Given the description of an element on the screen output the (x, y) to click on. 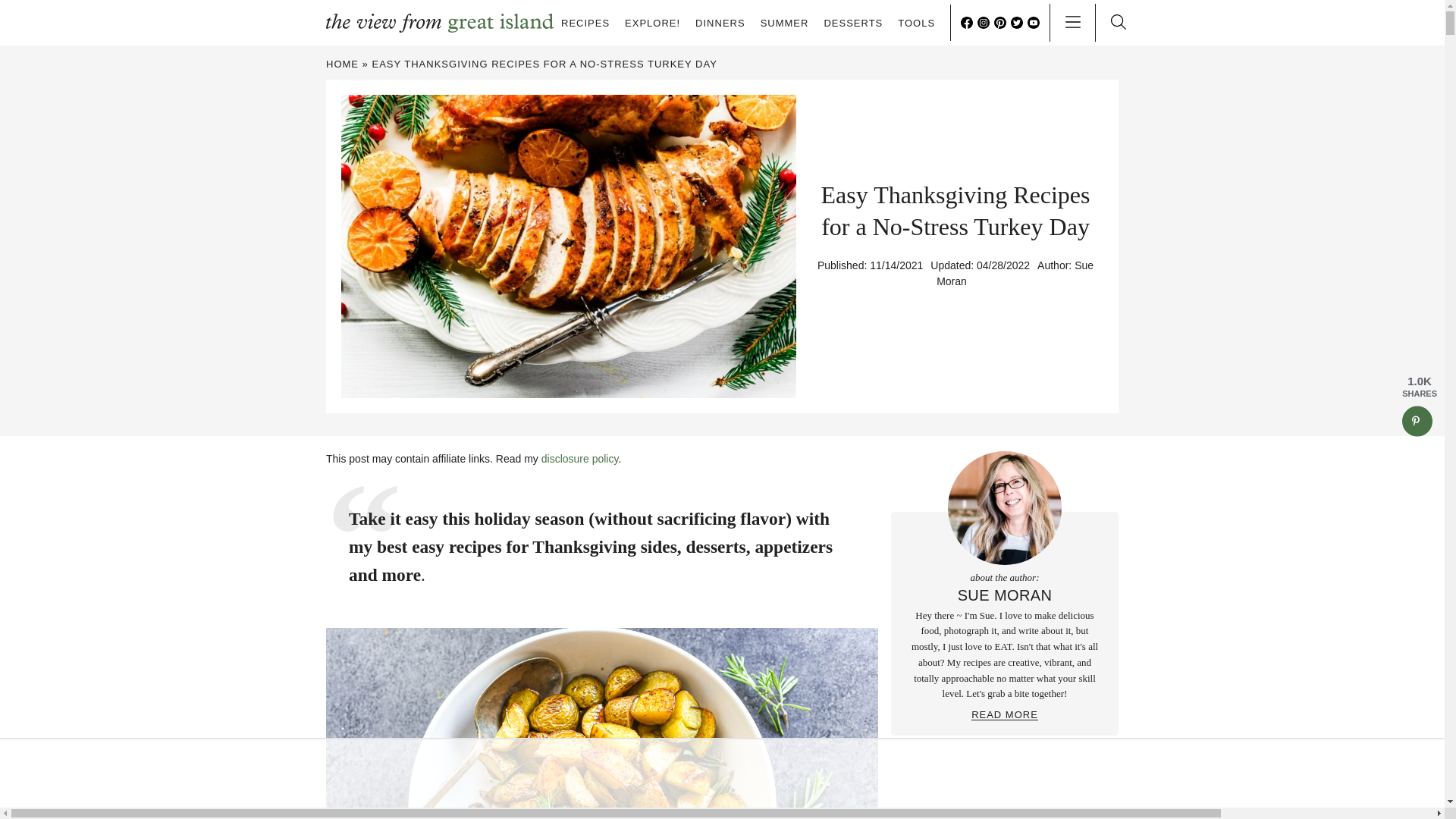
DINNERS (720, 22)
SUMMER (784, 22)
TOOLS (916, 22)
DESSERTS (853, 22)
RECIPES (585, 22)
EXPLORE! (651, 22)
